Given the description of an element on the screen output the (x, y) to click on. 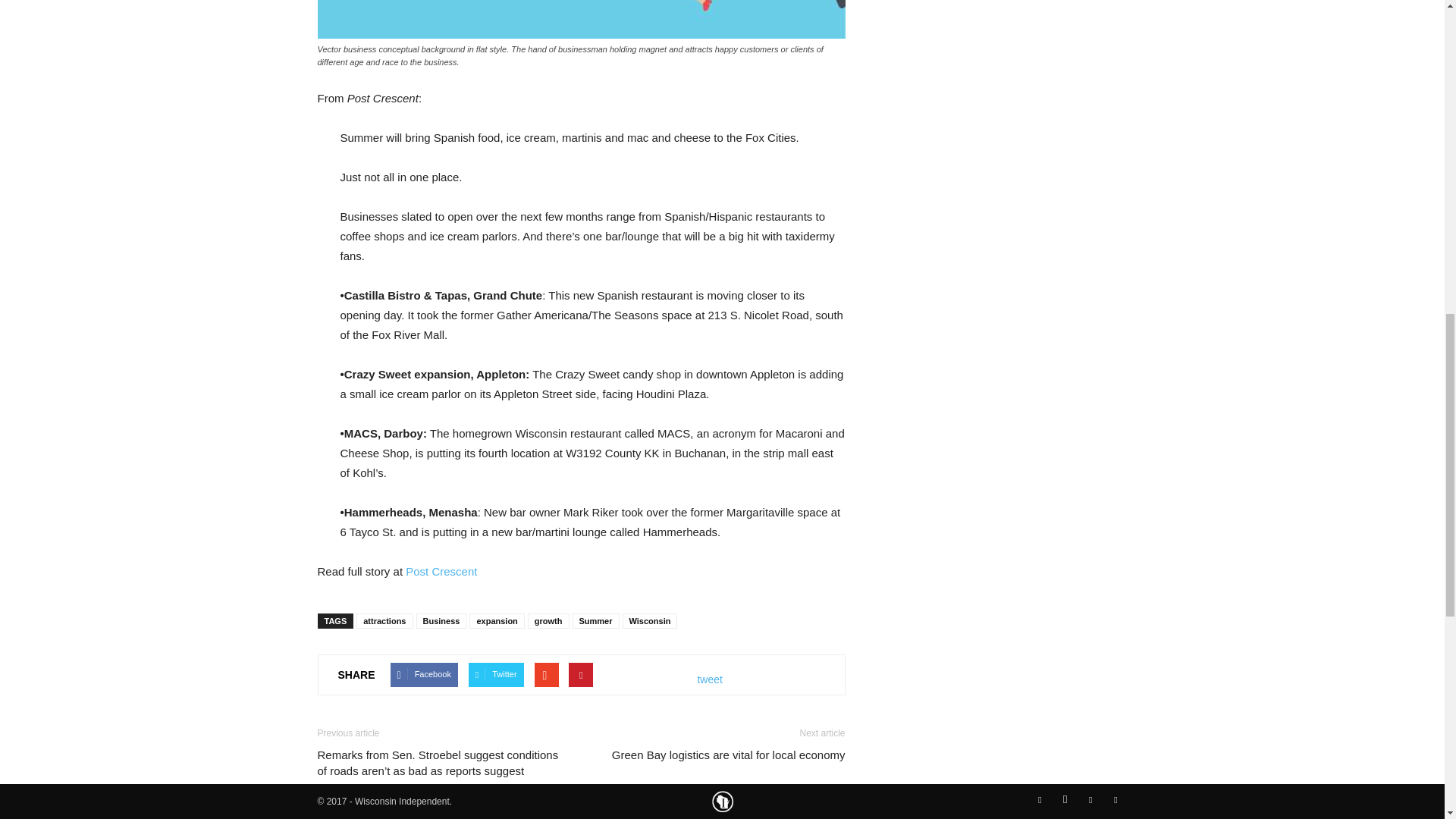
Magnet and happy customers (580, 19)
